Given the description of an element on the screen output the (x, y) to click on. 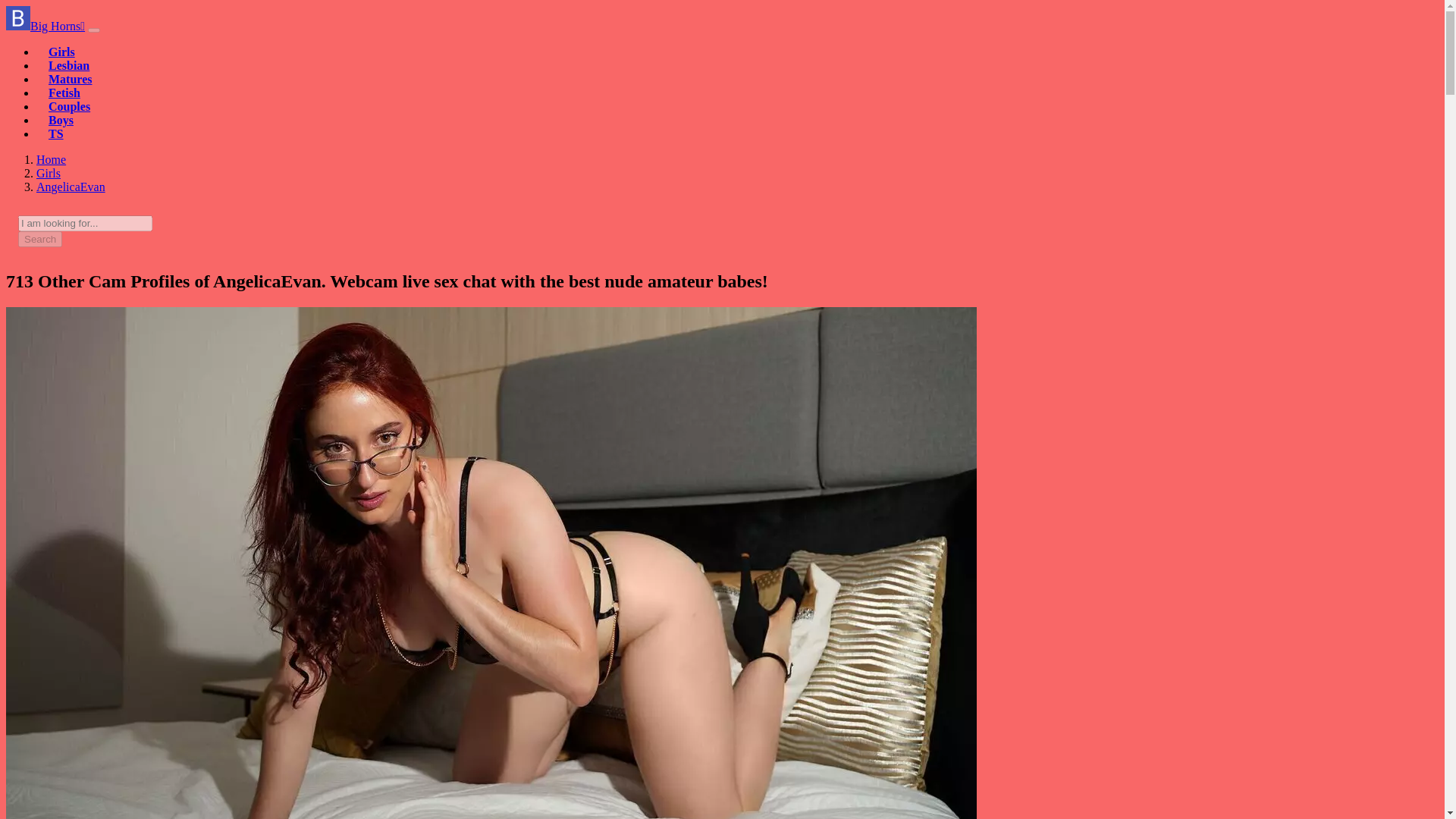
Matures (69, 78)
Matures (69, 78)
TS (56, 133)
Couples (69, 106)
Girls (48, 173)
Lesbian (68, 65)
Fetish (64, 92)
Girls (48, 173)
Lesbian (68, 65)
Couples (69, 106)
Fetish (64, 92)
Home (50, 159)
AngelicaEvan (70, 186)
TS (56, 133)
Boys (61, 119)
